Given the description of an element on the screen output the (x, y) to click on. 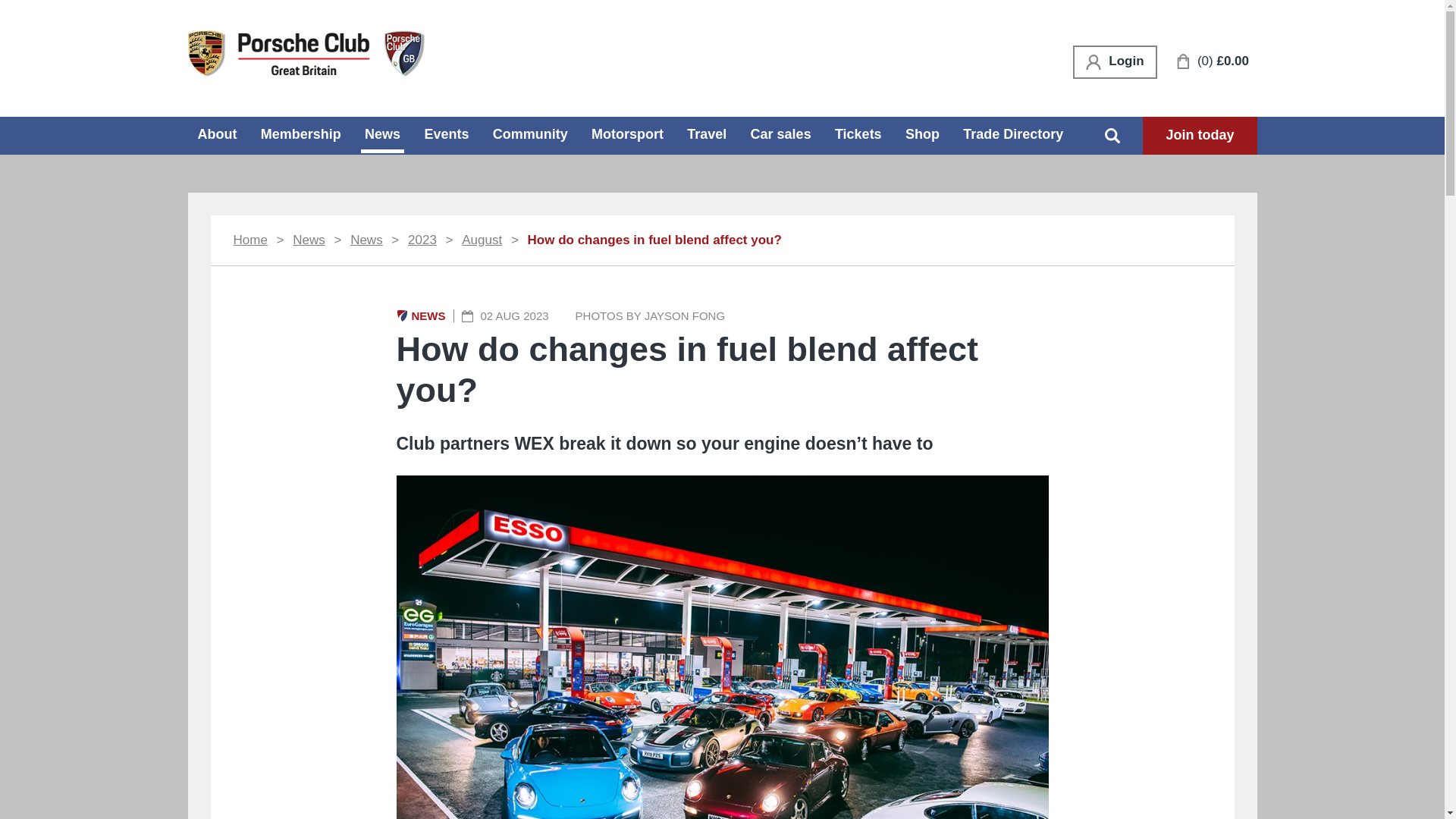
About (217, 133)
Porsche Club Great Britain (306, 52)
Membership (301, 133)
About (217, 133)
The heart of Porsche ownership and enjoyment in the UK (306, 53)
View your shopping basket (1212, 60)
News (382, 135)
Membership (301, 133)
Sign in (1114, 61)
